Given the description of an element on the screen output the (x, y) to click on. 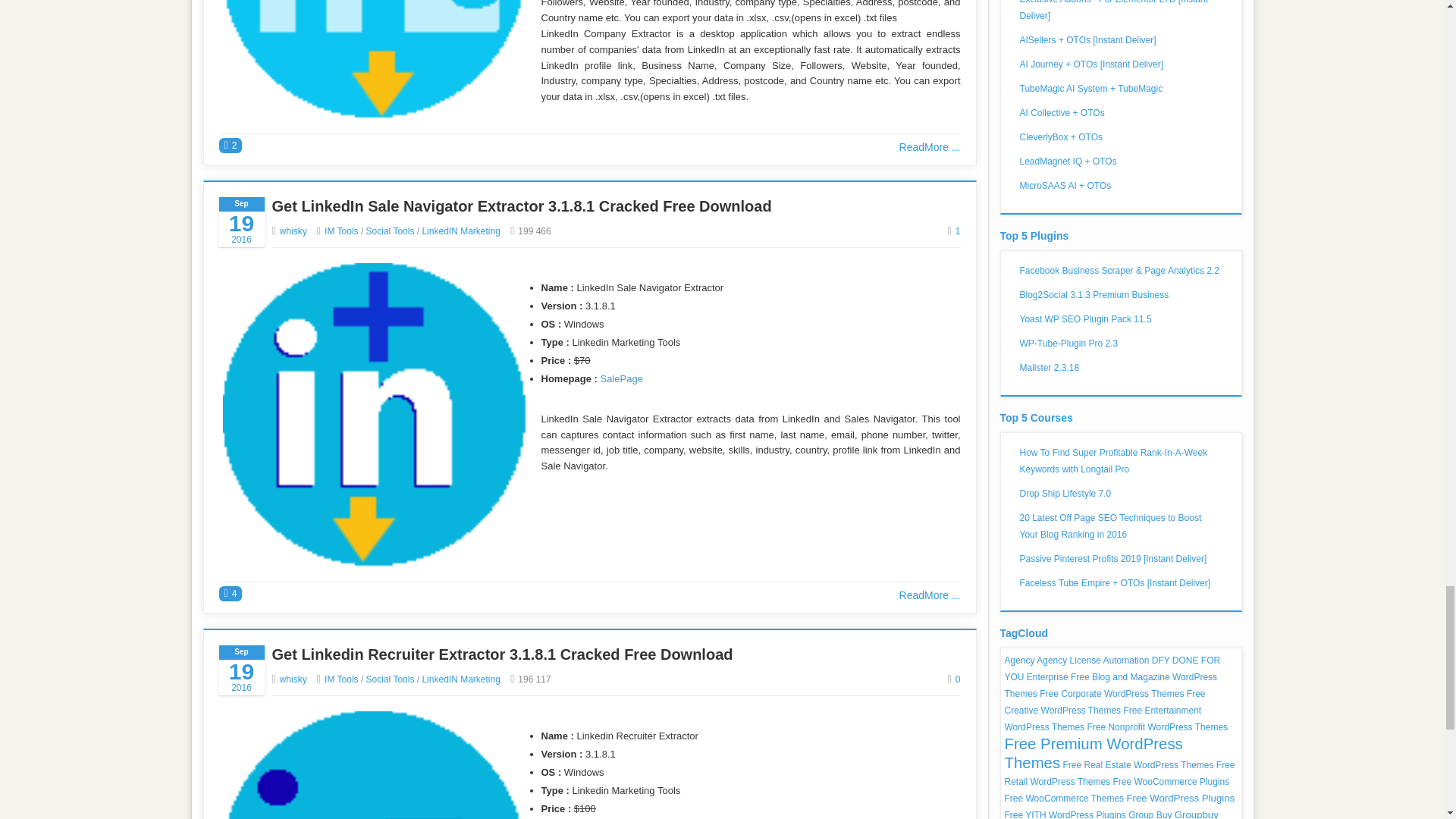
LinkedIn Company Extractor 3.0.6.1 (373, 58)
LinkedIn Sale Navigator Extractor 3.1.8.1 (373, 414)
Linkedin Recruiter Extractor 3.1.8.1 (373, 765)
